Given the description of an element on the screen output the (x, y) to click on. 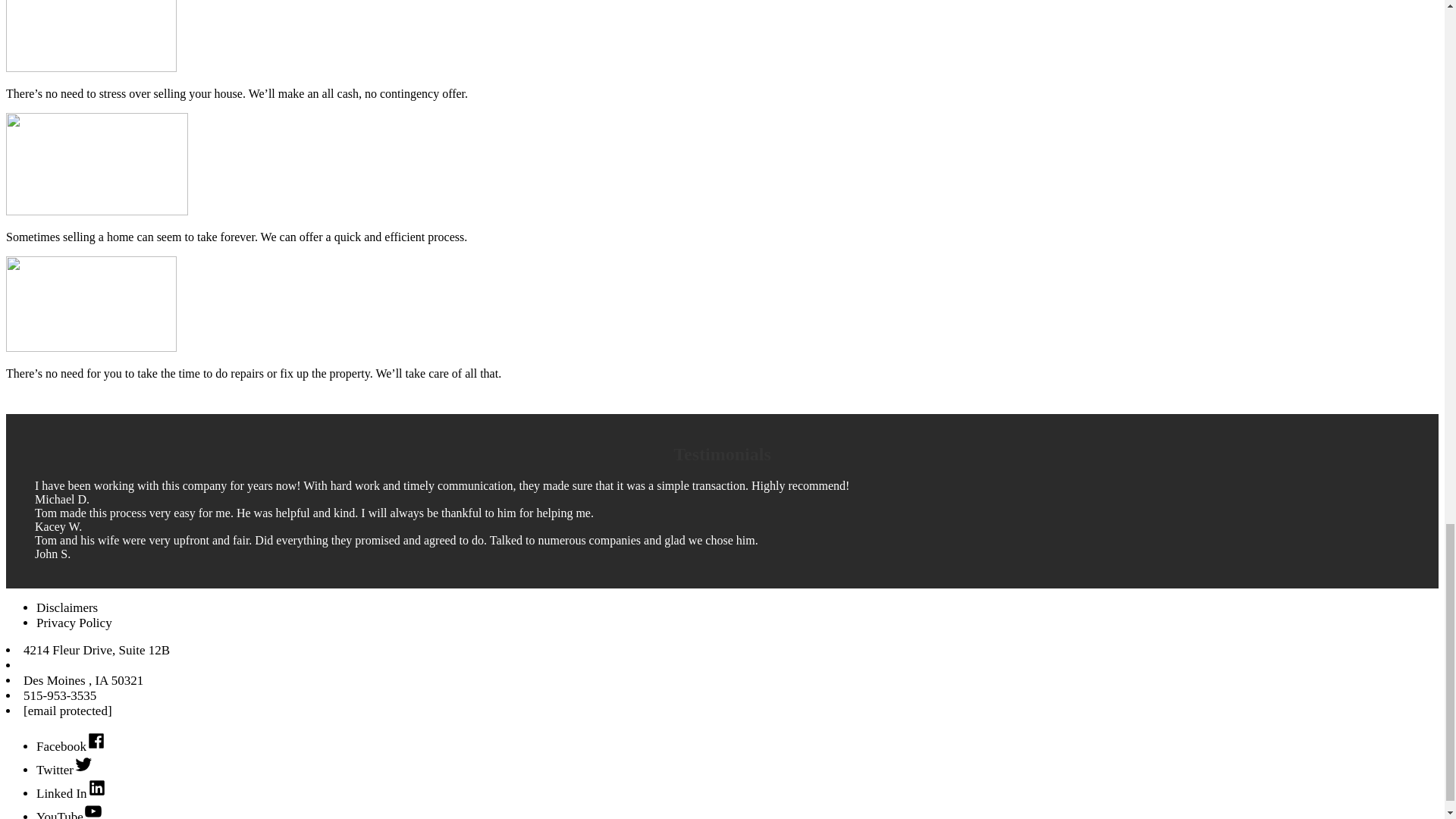
Twitter (64, 769)
Facebook (71, 746)
Privacy Policy (74, 622)
Linked In (71, 793)
515-953-3535 (59, 695)
Disclaimers (66, 607)
